Given the description of an element on the screen output the (x, y) to click on. 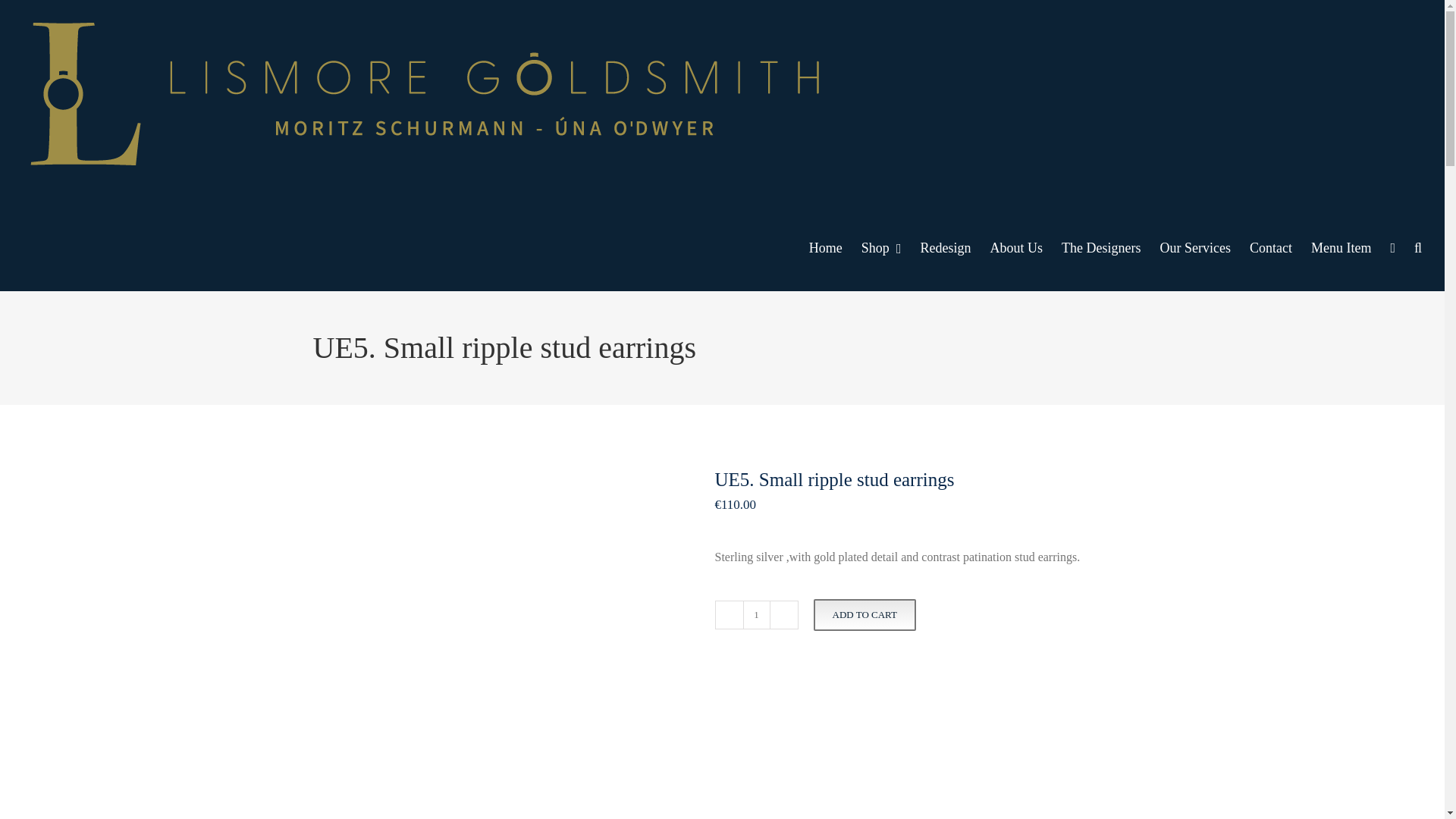
1 (756, 614)
The Designers (1100, 247)
